Given the description of an element on the screen output the (x, y) to click on. 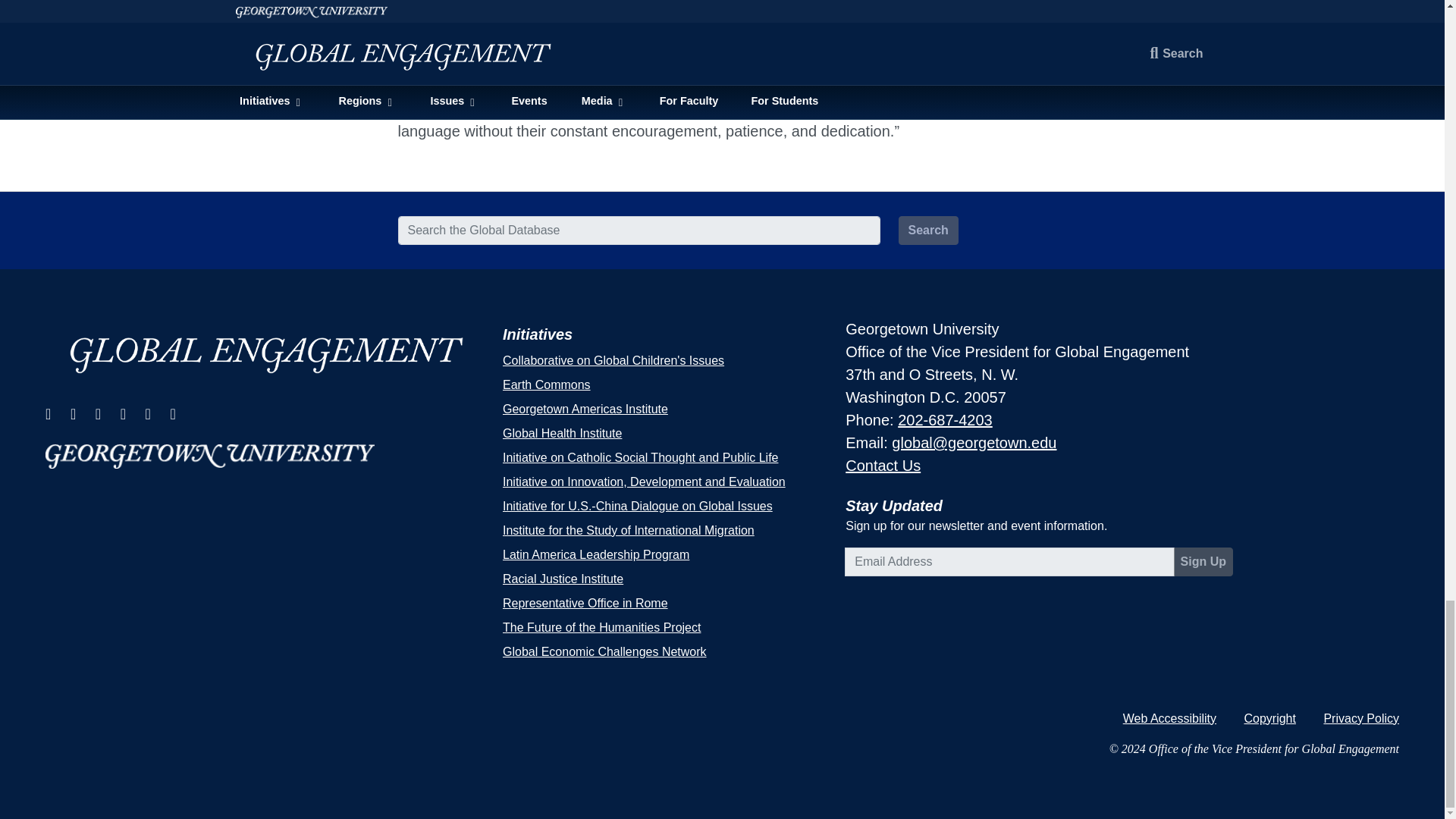
Office of the Vice President for Global Engagement (264, 352)
